Given the description of an element on the screen output the (x, y) to click on. 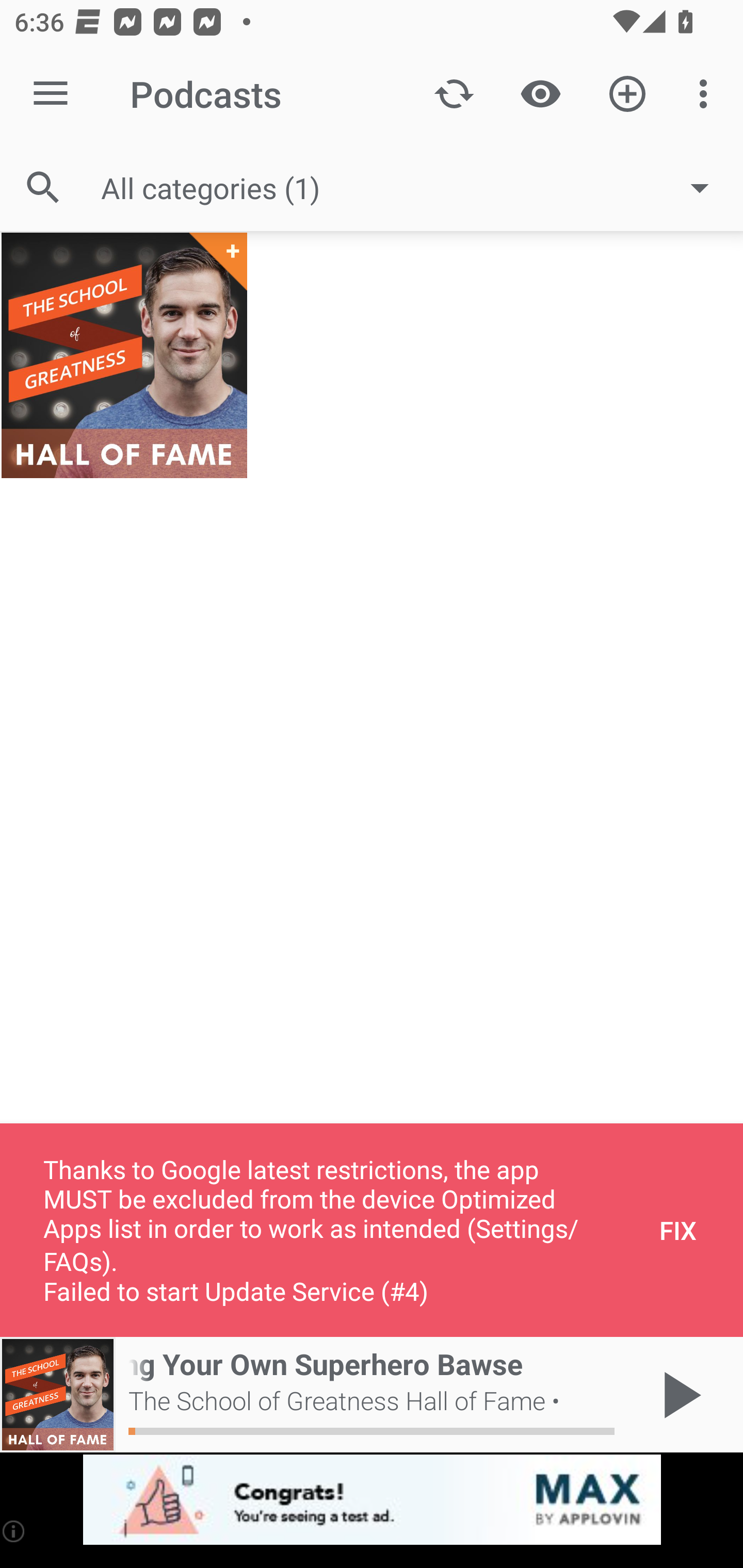
Open navigation sidebar (50, 93)
Update (453, 93)
Show / Hide played content (540, 93)
Add new Podcast (626, 93)
More options (706, 93)
Search (43, 187)
All categories (1) (414, 188)
The School of Greatness Hall of Fame + (124, 355)
FIX (677, 1229)
Play / Pause (677, 1394)
app-monetization (371, 1500)
(i) (14, 1531)
